Given the description of an element on the screen output the (x, y) to click on. 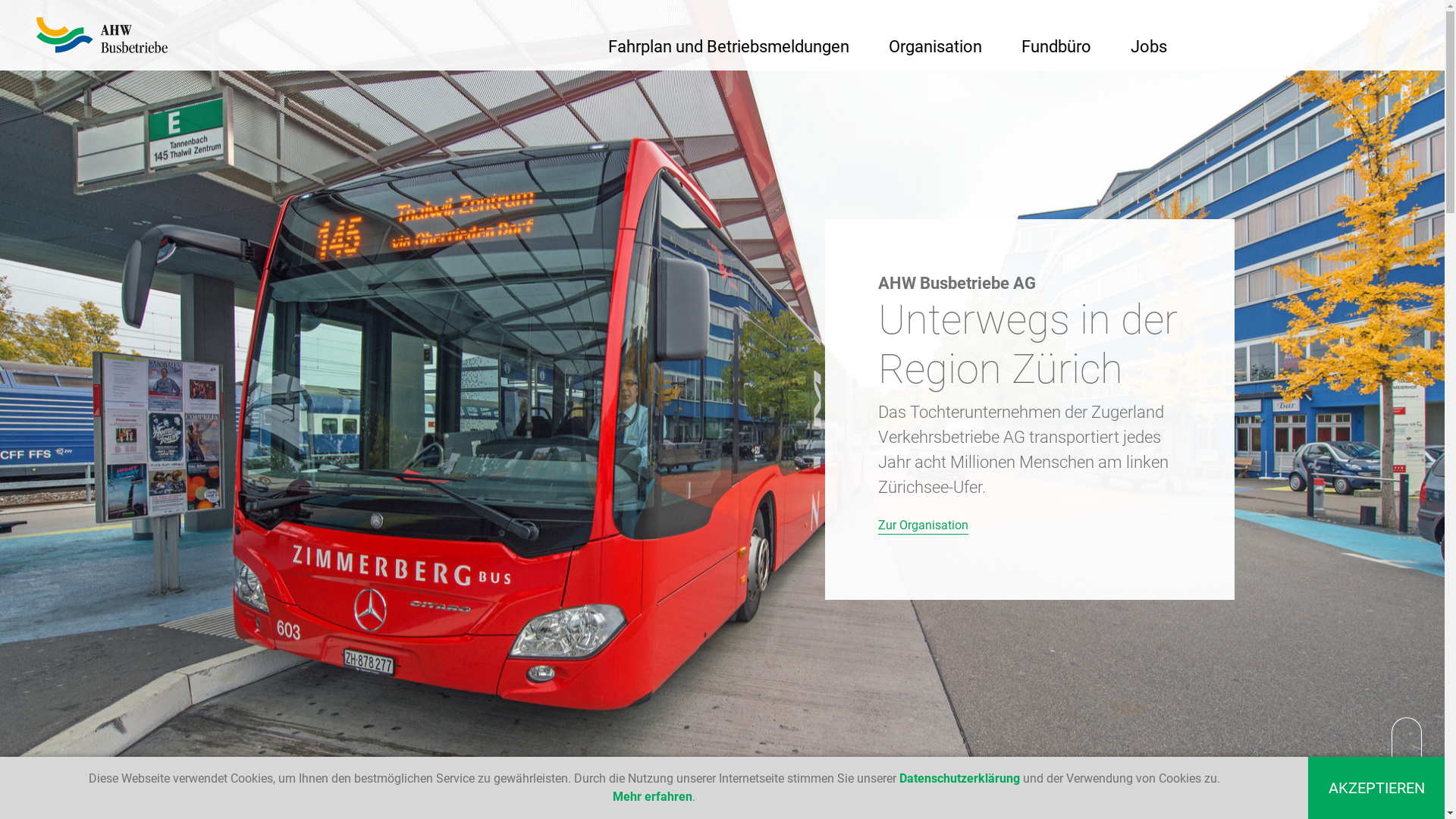
Fahrplan und Betriebsmeldungen Element type: text (728, 46)
Mehr erfahren Element type: text (652, 796)
Jobs Element type: text (1148, 46)
Organisation Element type: text (935, 46)
Zur Organisation Element type: text (923, 525)
